Given the description of an element on the screen output the (x, y) to click on. 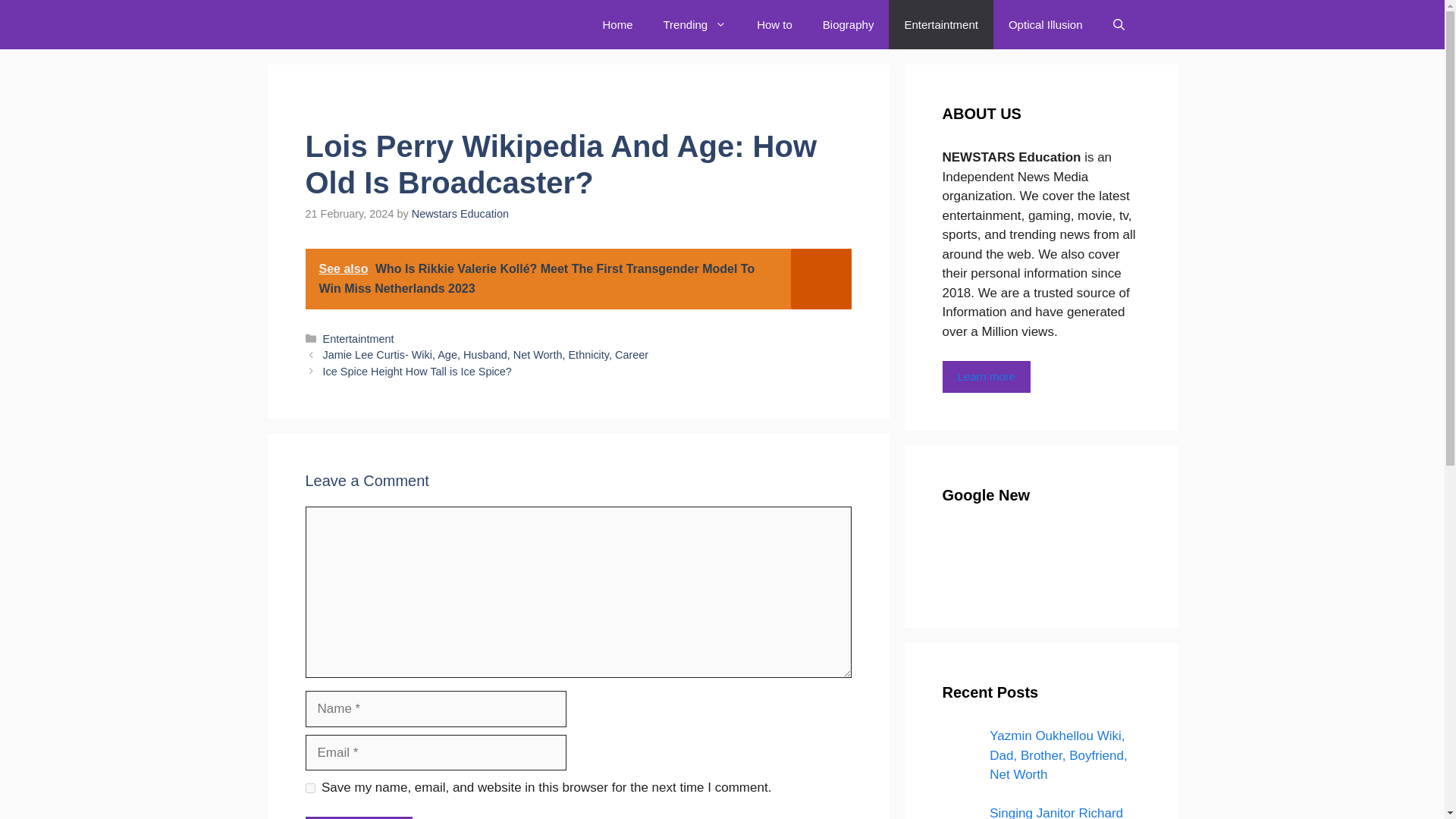
Singing Janitor Richard Goodall Bio, Age, Wife, Instagram (1056, 812)
Yazmin Oukhellou Wiki, Dad, Brother, Boyfriend, Net Worth (1058, 755)
View all posts by Newstars Education (460, 214)
Post Comment (358, 817)
Ice Spice Height How Tall is Ice Spice? (417, 371)
NEWSTARS Education (367, 24)
Entertaintment (940, 24)
Entertaintment (358, 338)
Biography (848, 24)
Post Comment (358, 817)
Singing Janitor Richard Goodall Bio, Age, Wife, Instagram (960, 813)
yes (309, 787)
Optical Illusion (1044, 24)
Learn more (986, 377)
